Given the description of an element on the screen output the (x, y) to click on. 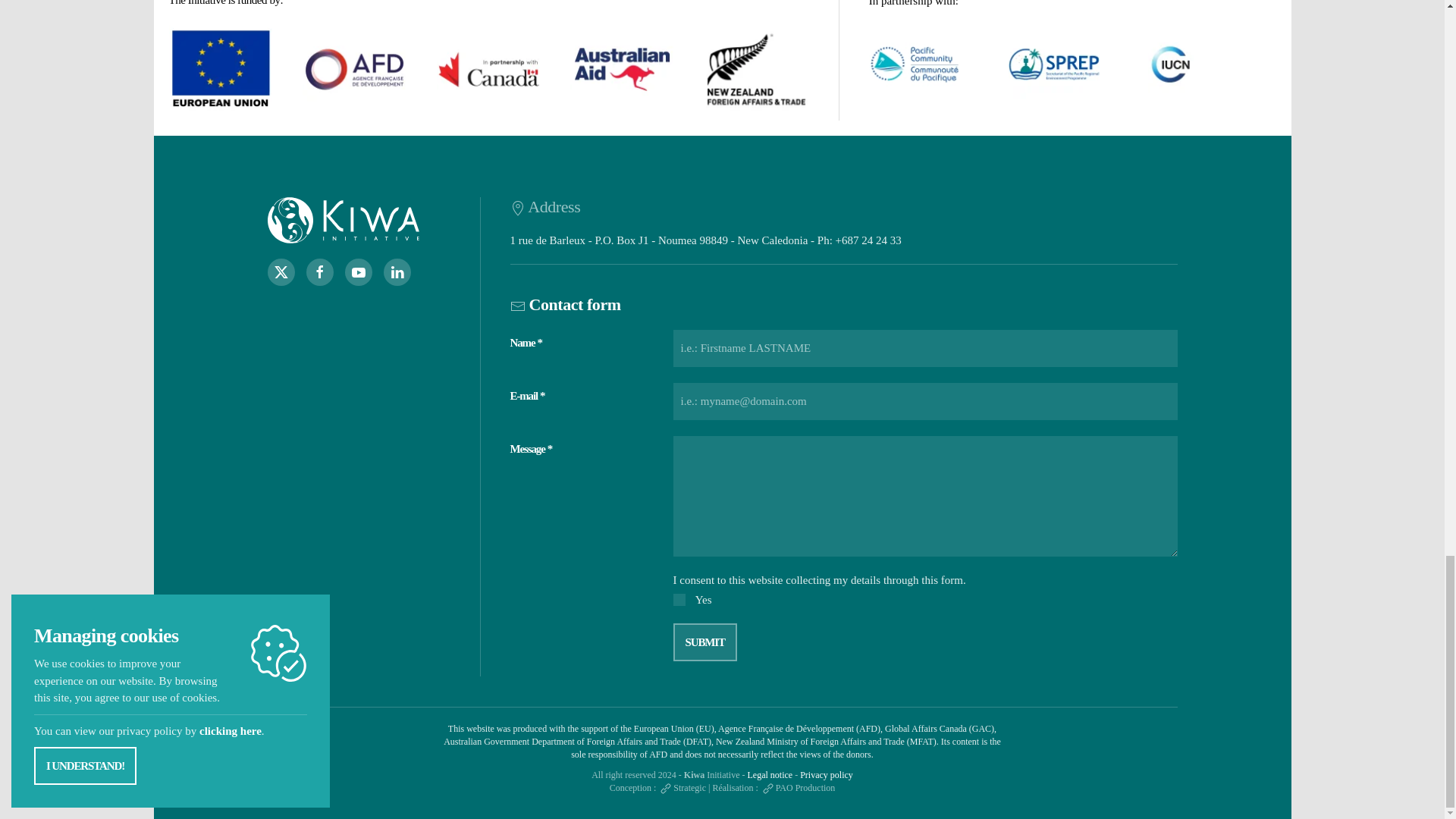
Yes (678, 599)
Strategic (682, 787)
Privacy policy (826, 774)
PAO production (797, 787)
Legal notice (770, 774)
